Given the description of an element on the screen output the (x, y) to click on. 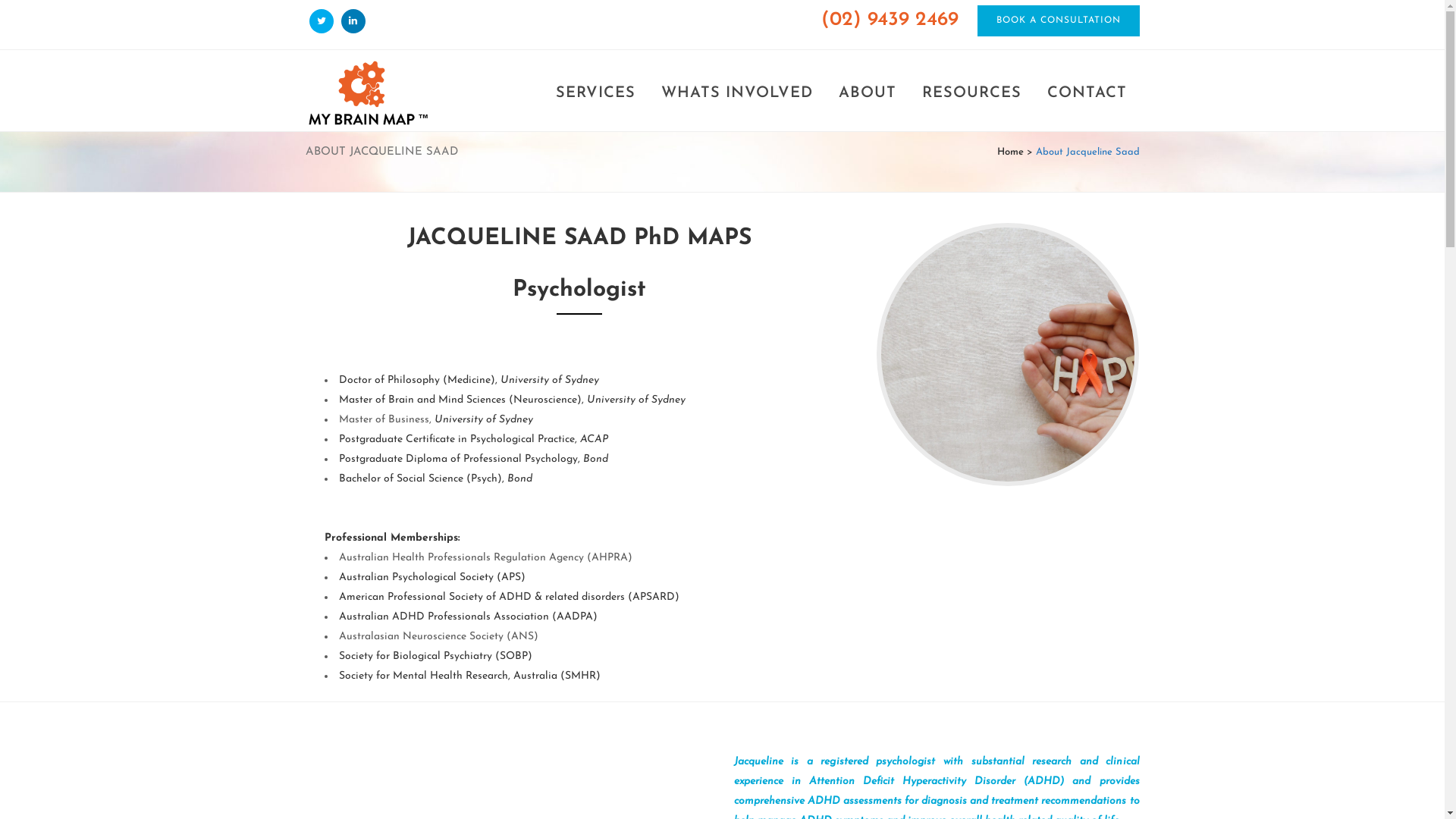
(02) 9439 2469 Element type: text (888, 19)
WHATS INVOLVED Element type: text (736, 93)
SERVICES Element type: text (595, 93)
Home Element type: text (1009, 151)
RESOURCES Element type: text (970, 93)
ABOUT Element type: text (866, 93)
BOOK A CONSULTATION Element type: text (1057, 20)
CONTACT Element type: text (1086, 93)
